Given the description of an element on the screen output the (x, y) to click on. 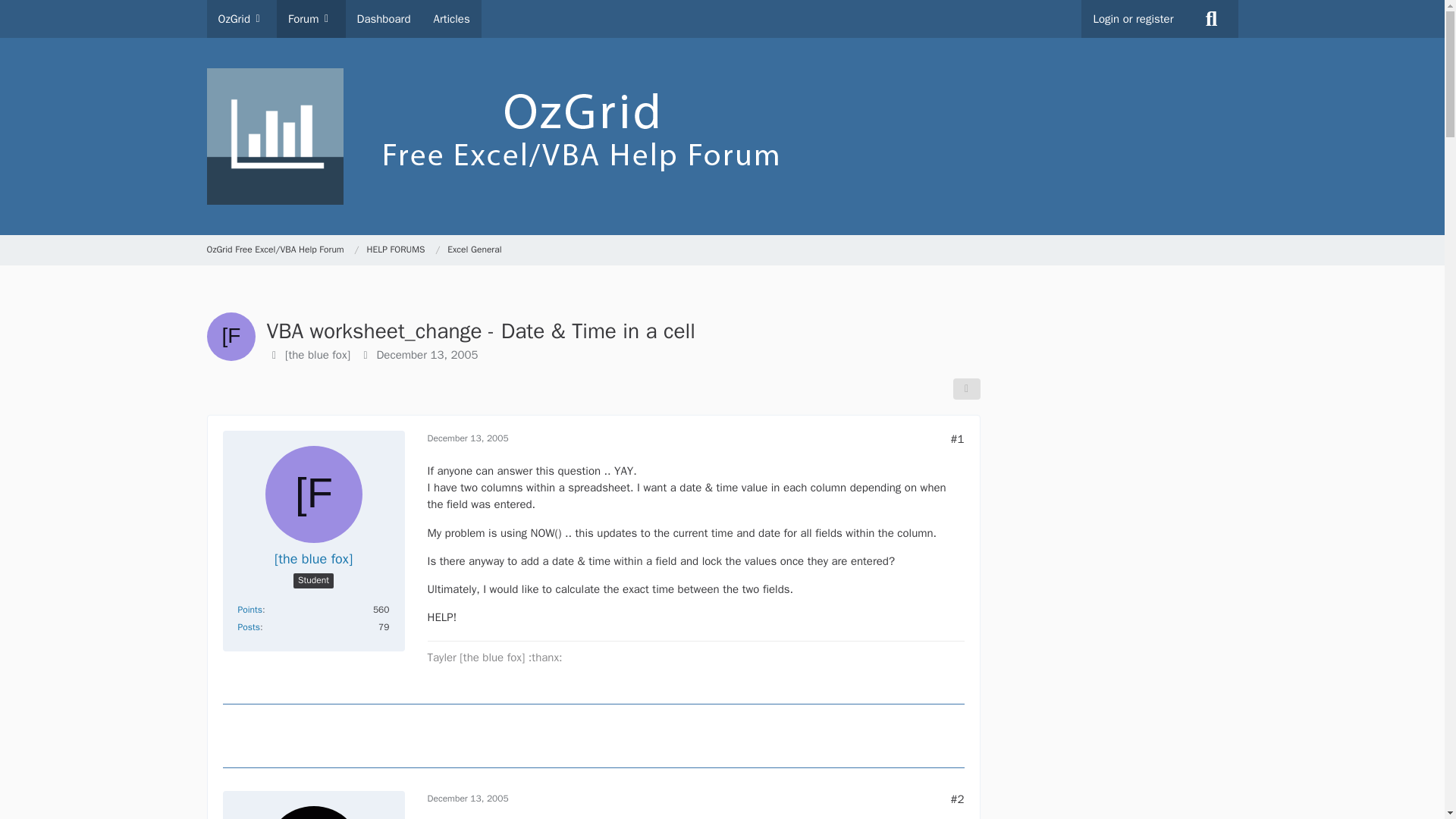
Posts (249, 626)
December 13, 2005December 13, 2005 at 11:40 PM (468, 438)
December 13, 2005December 13, 2005 at 11:52 PM (468, 798)
Login or register (1133, 18)
Articles (451, 18)
Dashboard (384, 18)
Points (250, 609)
December 13, 2005December 13, 2005 at 11:40 PM (426, 354)
HELP FORUMS (395, 250)
Excel General (473, 250)
HELP FORUMS (403, 250)
